Given the description of an element on the screen output the (x, y) to click on. 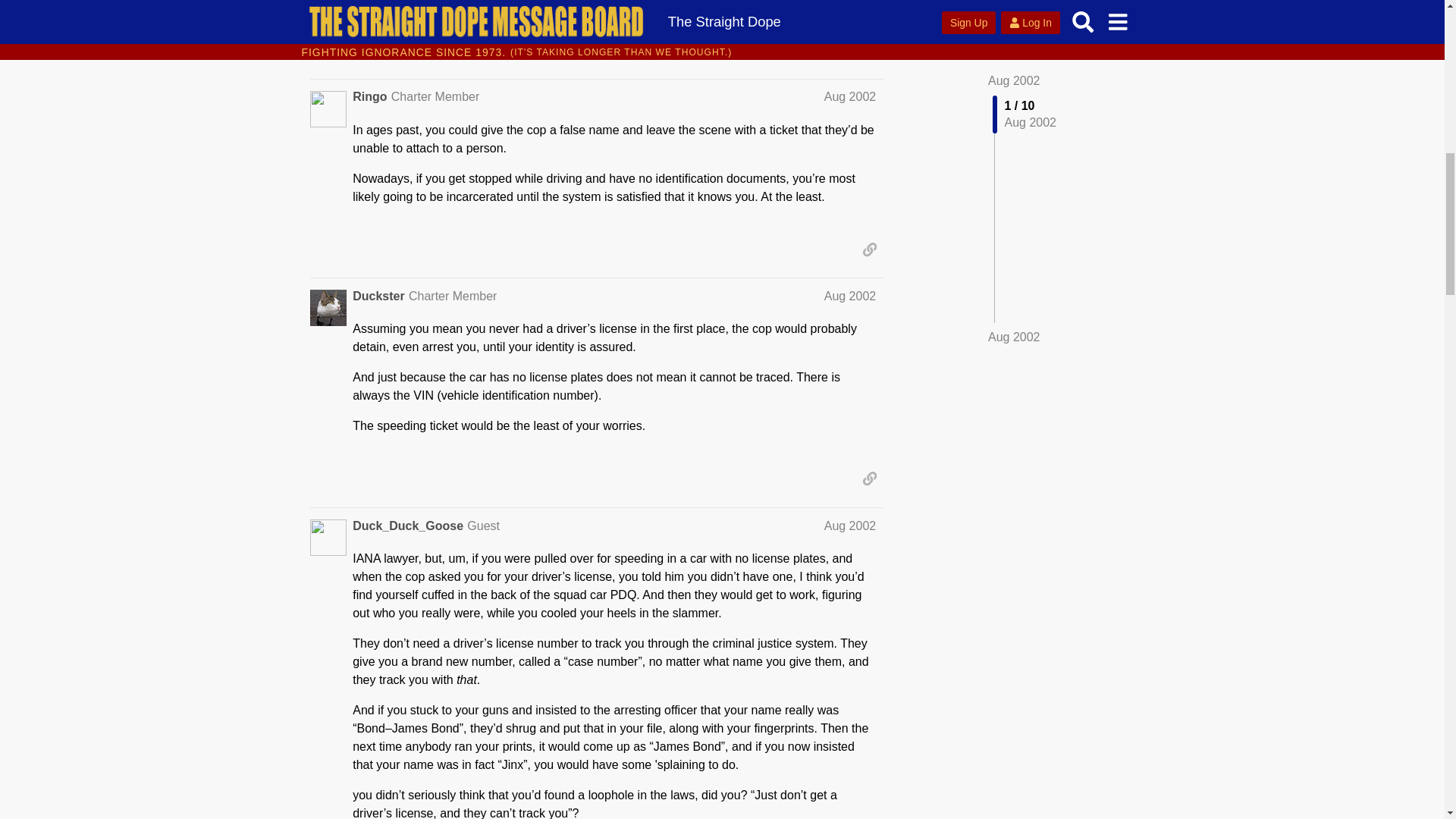
Charter Member (435, 96)
Ringo (369, 96)
Aug 2002 (850, 96)
